Given the description of an element on the screen output the (x, y) to click on. 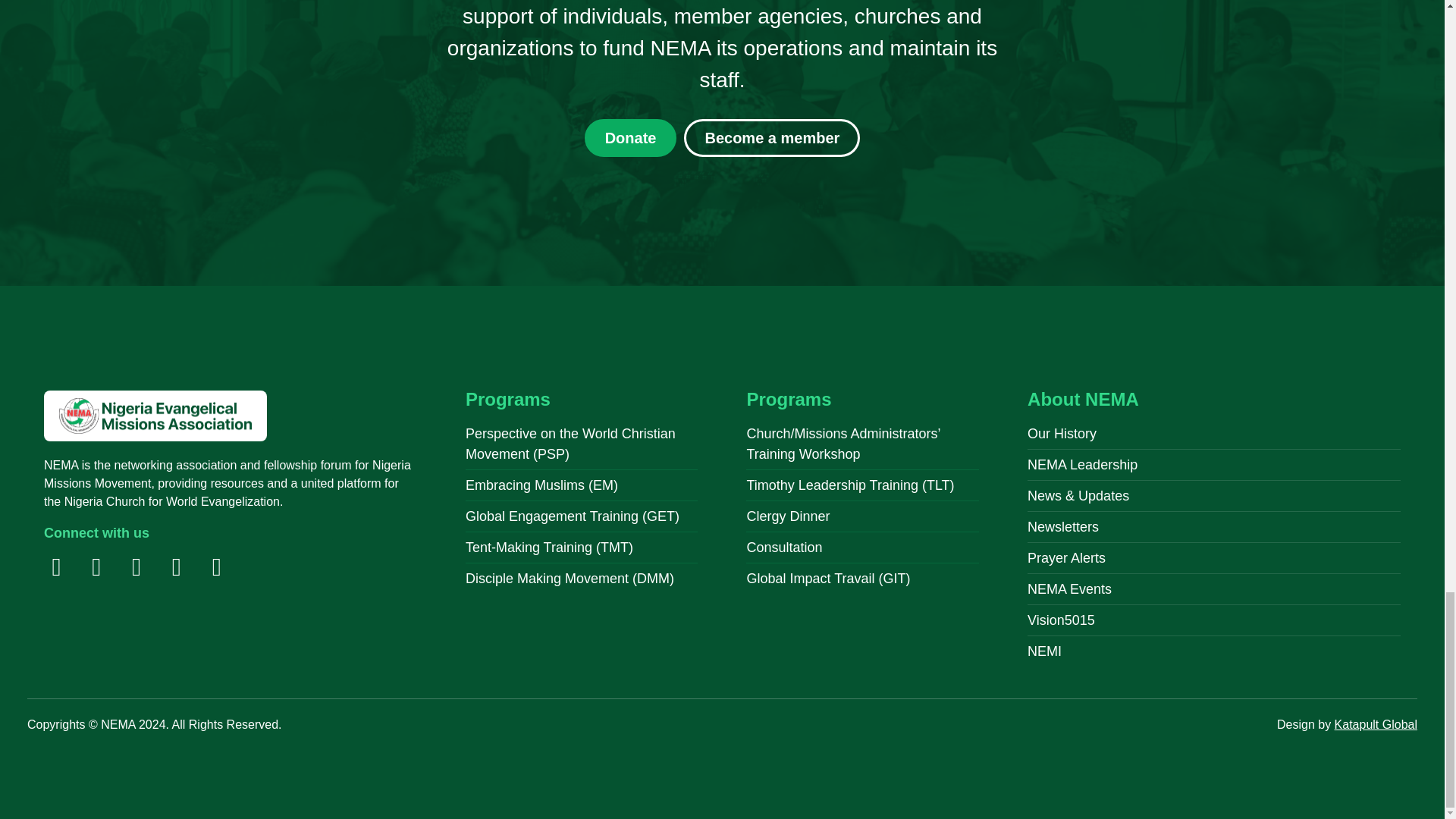
Page 1 (229, 483)
Page 2 (721, 48)
